Given the description of an element on the screen output the (x, y) to click on. 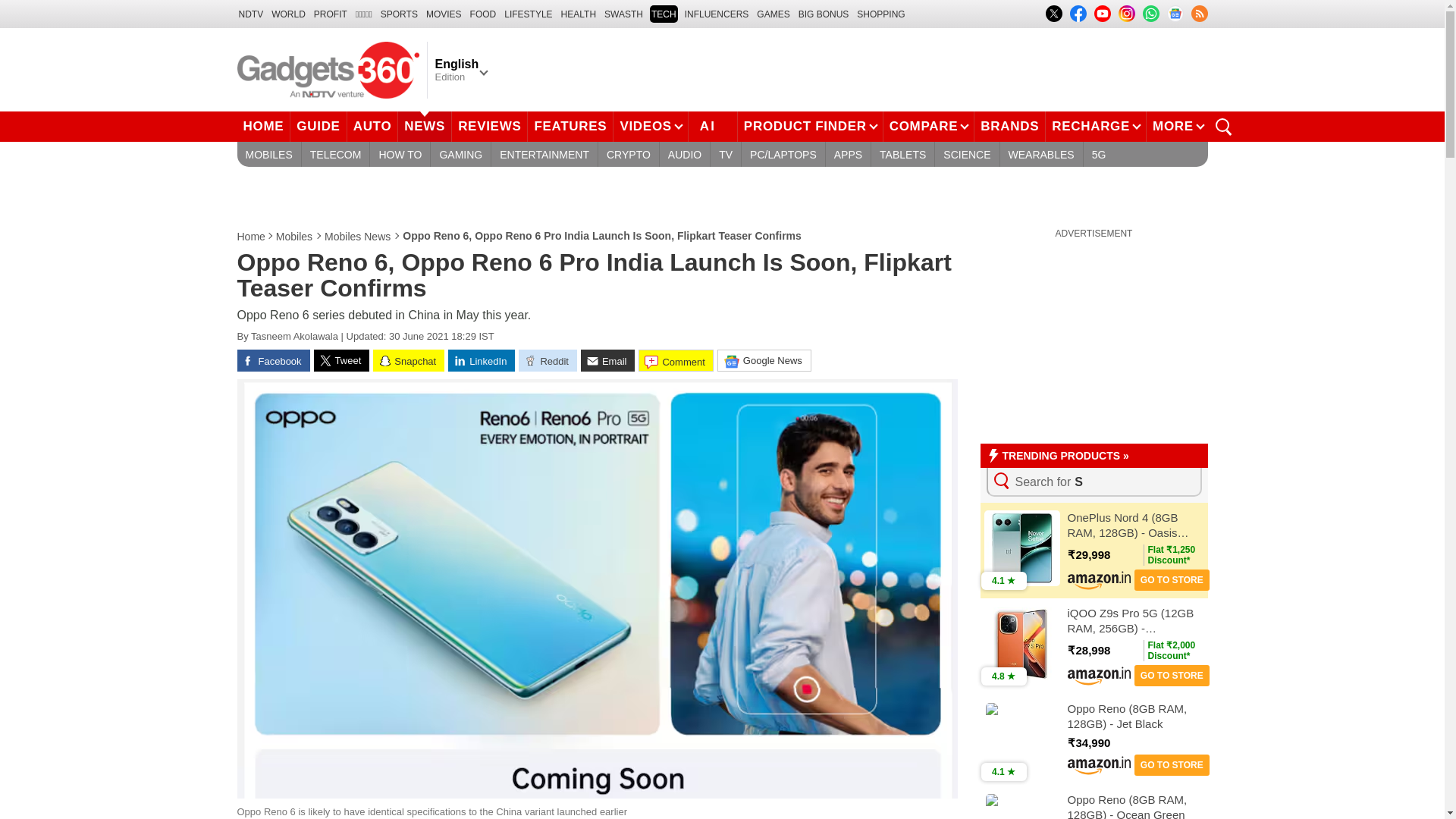
Sports (398, 13)
AUTO (372, 126)
SWASTH (623, 13)
WORLD (288, 13)
TECH (663, 13)
HEALTH (577, 13)
NDTV (249, 13)
Games (772, 13)
HEALTH (577, 13)
FEATURES (569, 126)
